Given the description of an element on the screen output the (x, y) to click on. 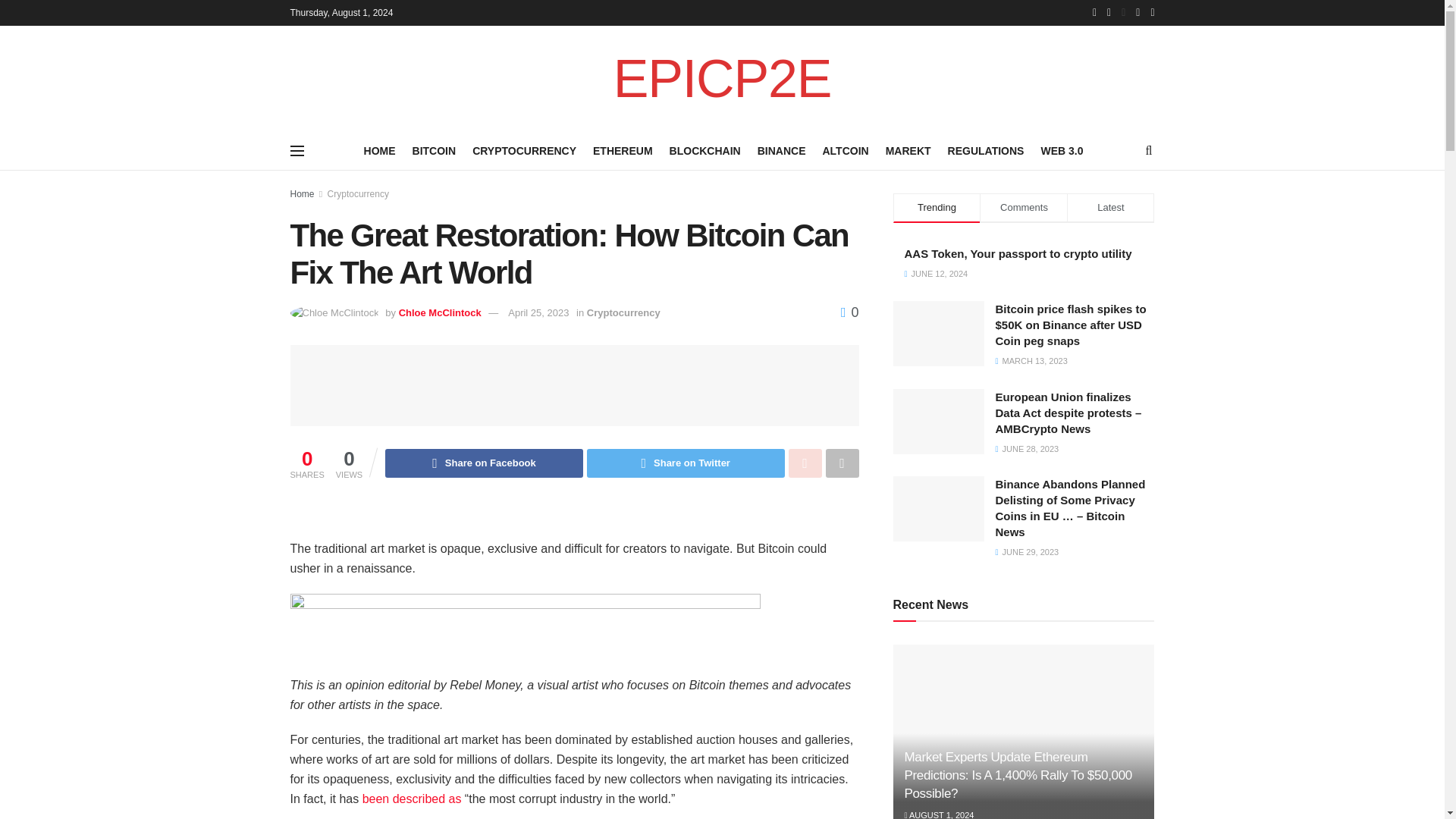
been described as (411, 798)
Chloe McClintock (439, 312)
BINANCE (781, 150)
BITCOIN (434, 150)
Cryptocurrency (623, 312)
April 25, 2023 (538, 312)
ALTCOIN (844, 150)
WEB 3.0 (1062, 150)
Cryptocurrency (357, 194)
Home (301, 194)
0 (850, 312)
HOME (380, 150)
ETHEREUM (622, 150)
EPICP2E (721, 78)
BLOCKCHAIN (705, 150)
